Given the description of an element on the screen output the (x, y) to click on. 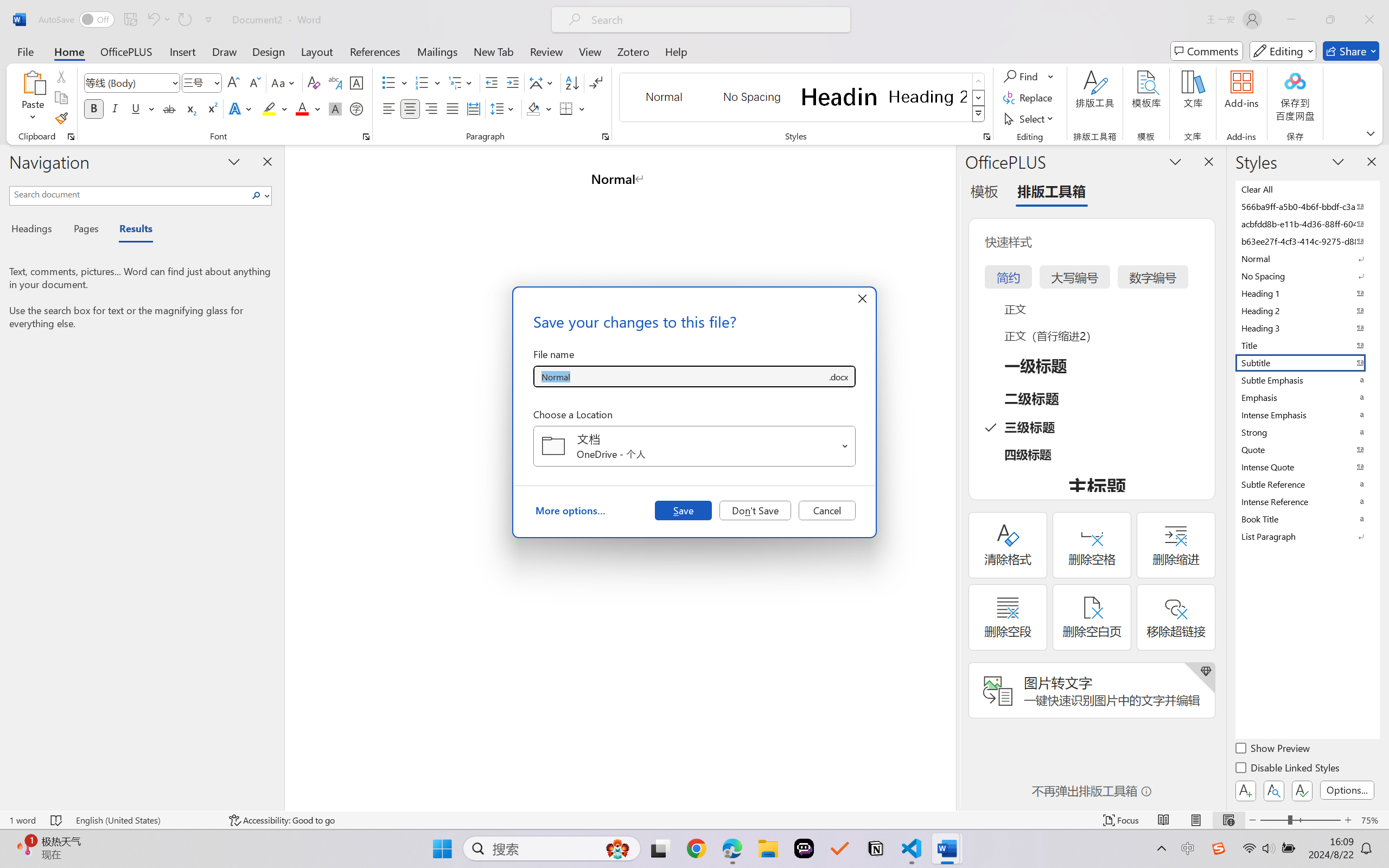
Text Highlight Color Yellow (269, 108)
Choose a Location (694, 446)
Emphasis (1306, 397)
Open (844, 446)
Book Title (1306, 518)
No Spacing (1306, 275)
AutomationID: QuickStylesGallery (802, 97)
Zoom (1300, 819)
Character Border (356, 82)
Class: NetUIButton (1301, 790)
Language English (United States) (144, 819)
Restore Down (1330, 19)
Distributed (473, 108)
Insert (182, 51)
